Given the description of an element on the screen output the (x, y) to click on. 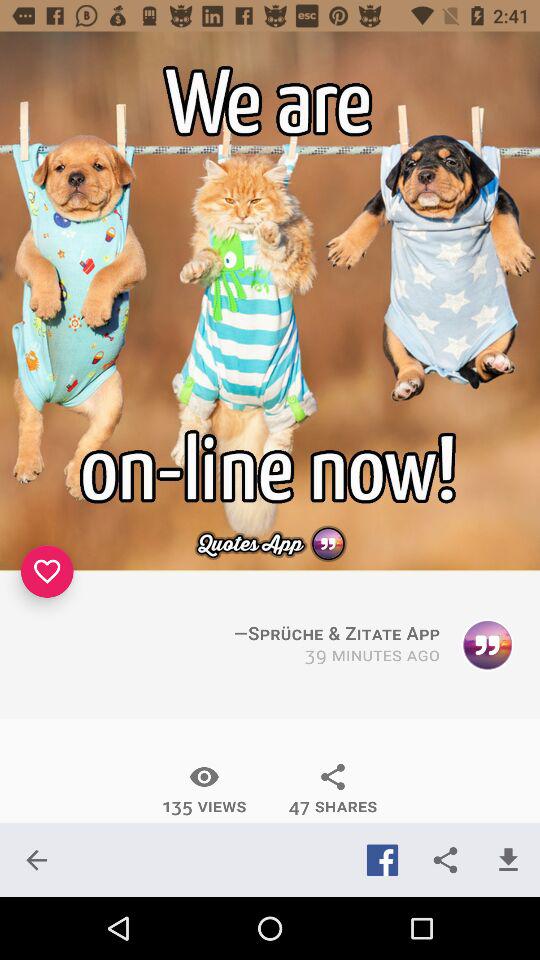
launch the item below the 39 minutes ago (332, 789)
